Given the description of an element on the screen output the (x, y) to click on. 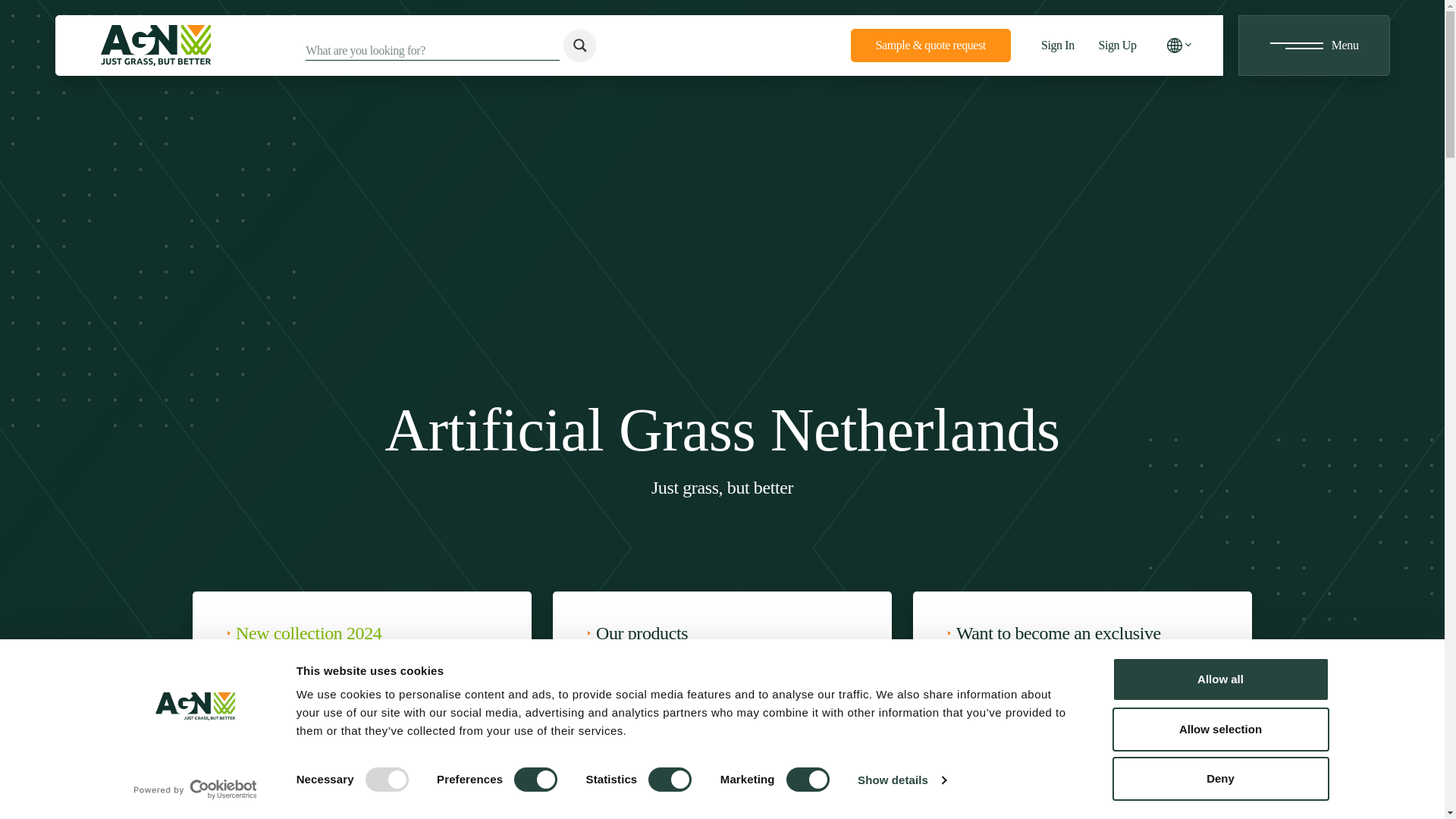
Show details (900, 780)
News (476, 747)
Sign in (1195, 747)
Allow all (1219, 679)
Allow selection (1219, 728)
Products (836, 747)
Deny (1219, 778)
